Given the description of an element on the screen output the (x, y) to click on. 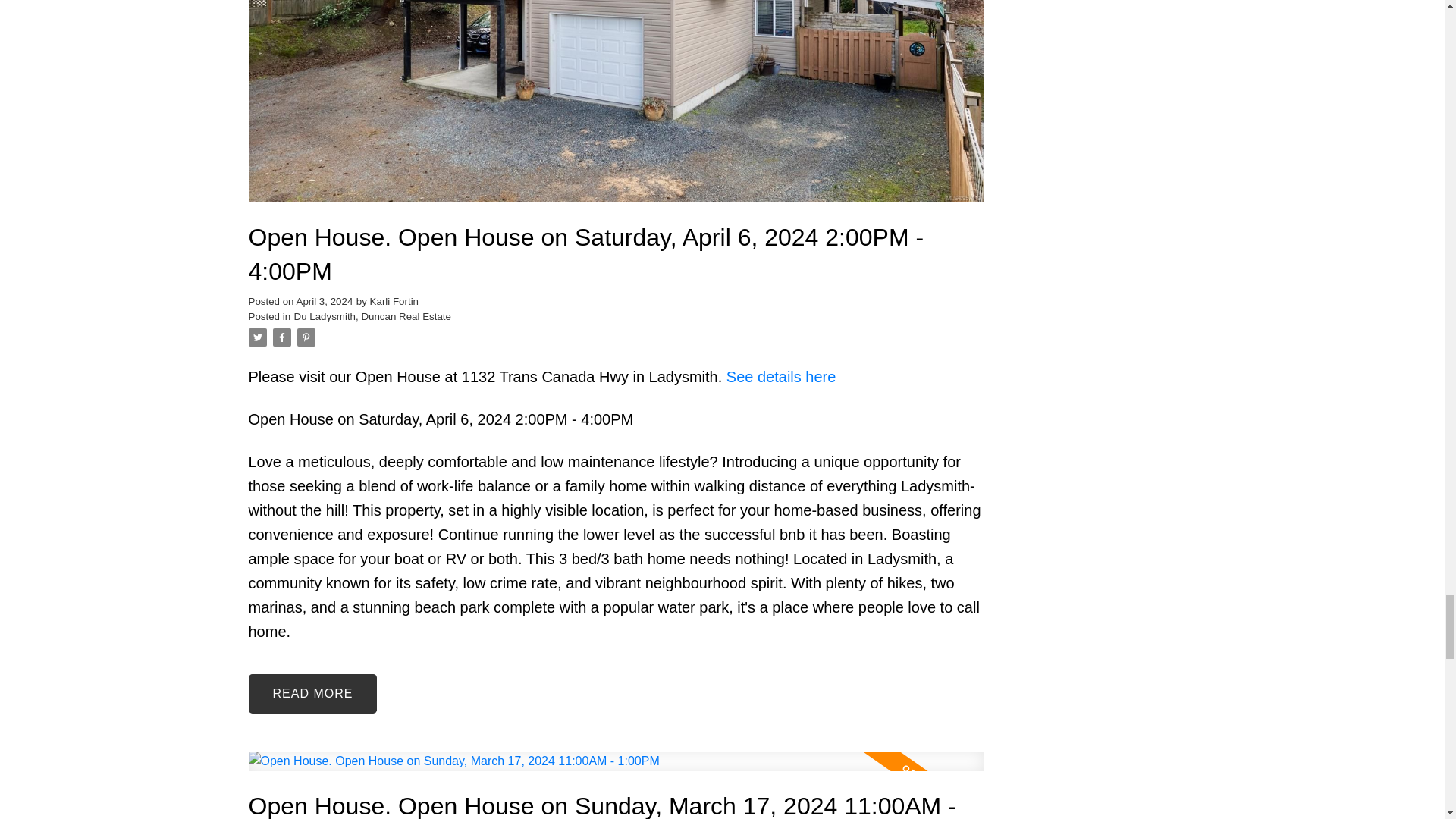
Read full post (616, 770)
